Given the description of an element on the screen output the (x, y) to click on. 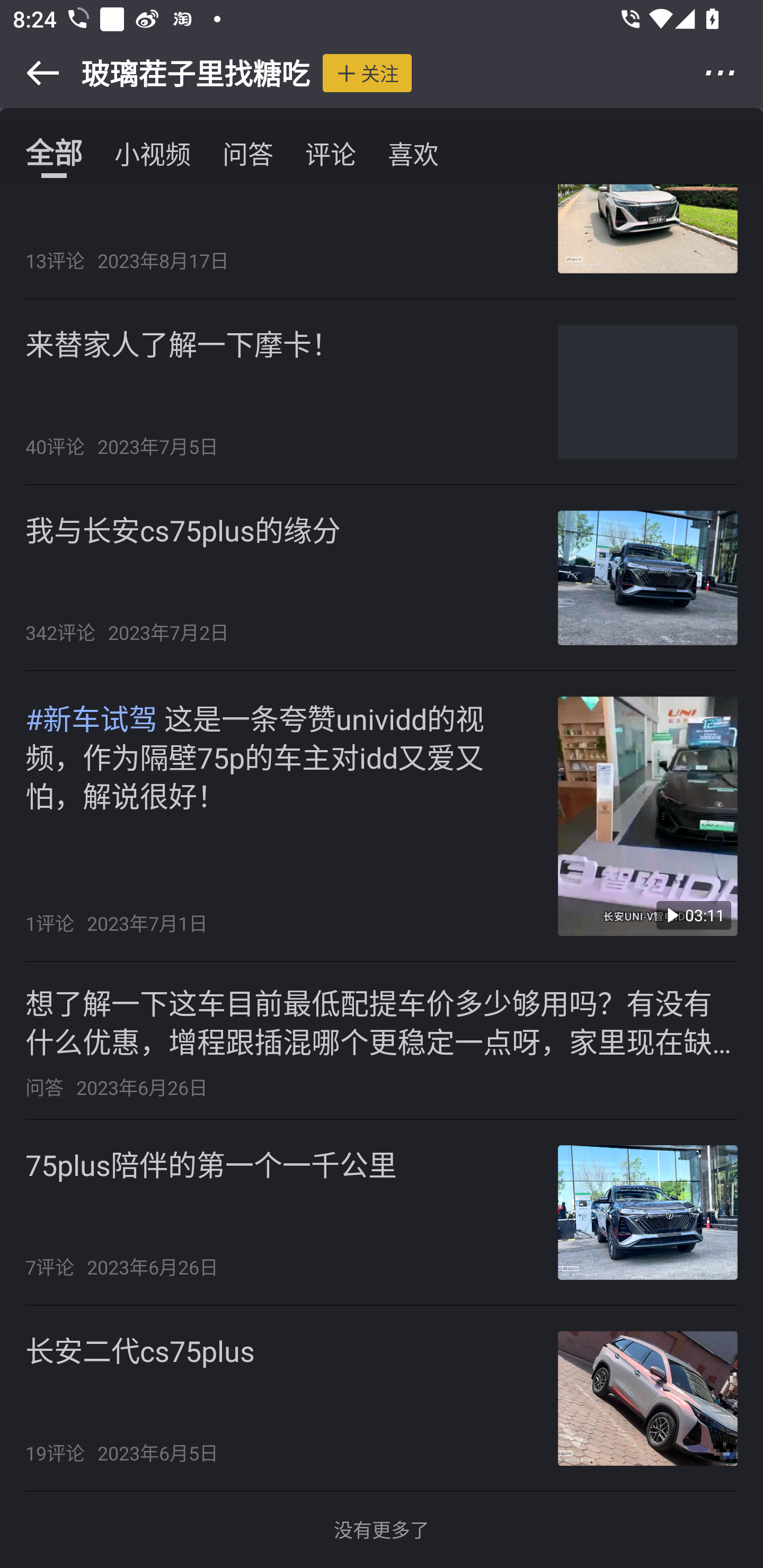
 (30, 72)
 (732, 72)
 关注 (367, 72)
全部 (53, 152)
小视频 (152, 152)
问答 (247, 152)
评论 (330, 152)
喜欢 (412, 152)
来替家人了解一下摩卡！ 40评论 2023年7月5日 (381, 391)
来替家人了解一下摩卡！ (182, 343)
我与长安cs75plus的缘分 342评论 2023年7月2日 (381, 577)
我与长安cs75plus的缘分 (183, 529)
#新车试驾 这是一条夸赞unividd的视频，作为隔壁75p的车主对idd又爱又怕，解说很好！ (281, 755)
75plus陪伴的第一个一千公里 7评论 2023年6月26日 (381, 1212)
75plus陪伴的第一个一千公里 (210, 1163)
长安二代cs75plus 19评论 2023年6月5日 (381, 1398)
长安二代cs75plus (139, 1350)
